Given the description of an element on the screen output the (x, y) to click on. 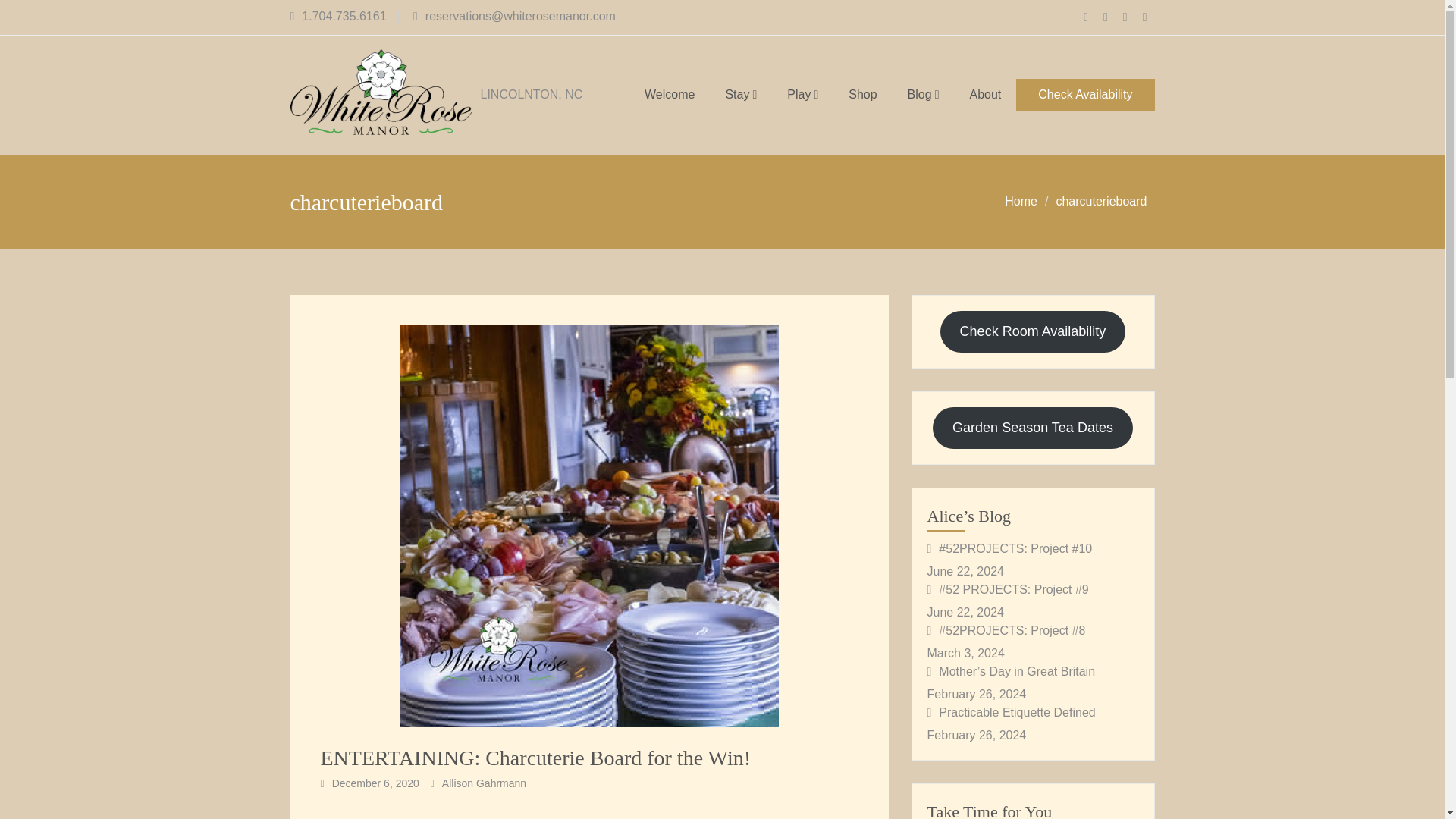
ENTERTAINING: Charcuterie Board for the Win! (534, 757)
Shop (861, 94)
Welcome (669, 94)
Allison Gahrmann (483, 783)
Check Availability (1085, 94)
Blog (923, 94)
Stay (740, 94)
About (984, 94)
Play (801, 94)
Home (1020, 201)
December 6, 2020 (375, 783)
